Given the description of an element on the screen output the (x, y) to click on. 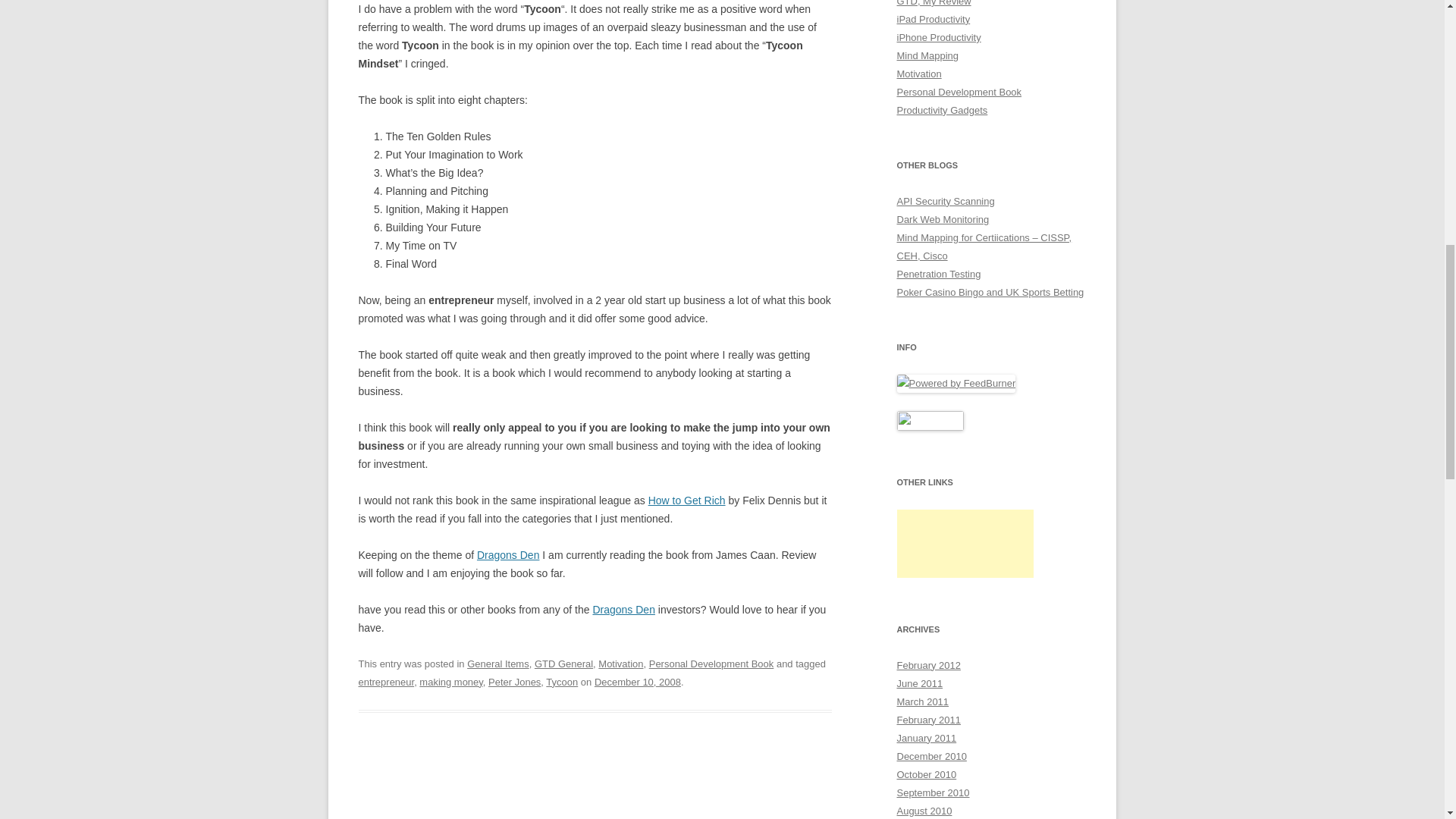
How to Get Rich (686, 500)
making money (450, 681)
General Items (498, 663)
Mind Maps for Computer Certification (983, 246)
Advertisement (964, 543)
Penetration Testing (937, 274)
Dark Web Monitoring (942, 219)
Motivation (620, 663)
Tycoon (562, 681)
December 10, 2008 (637, 681)
API Security Scanning (945, 201)
4:23 pm (637, 681)
entrepreneur (385, 681)
Peter Jones (513, 681)
